Given the description of an element on the screen output the (x, y) to click on. 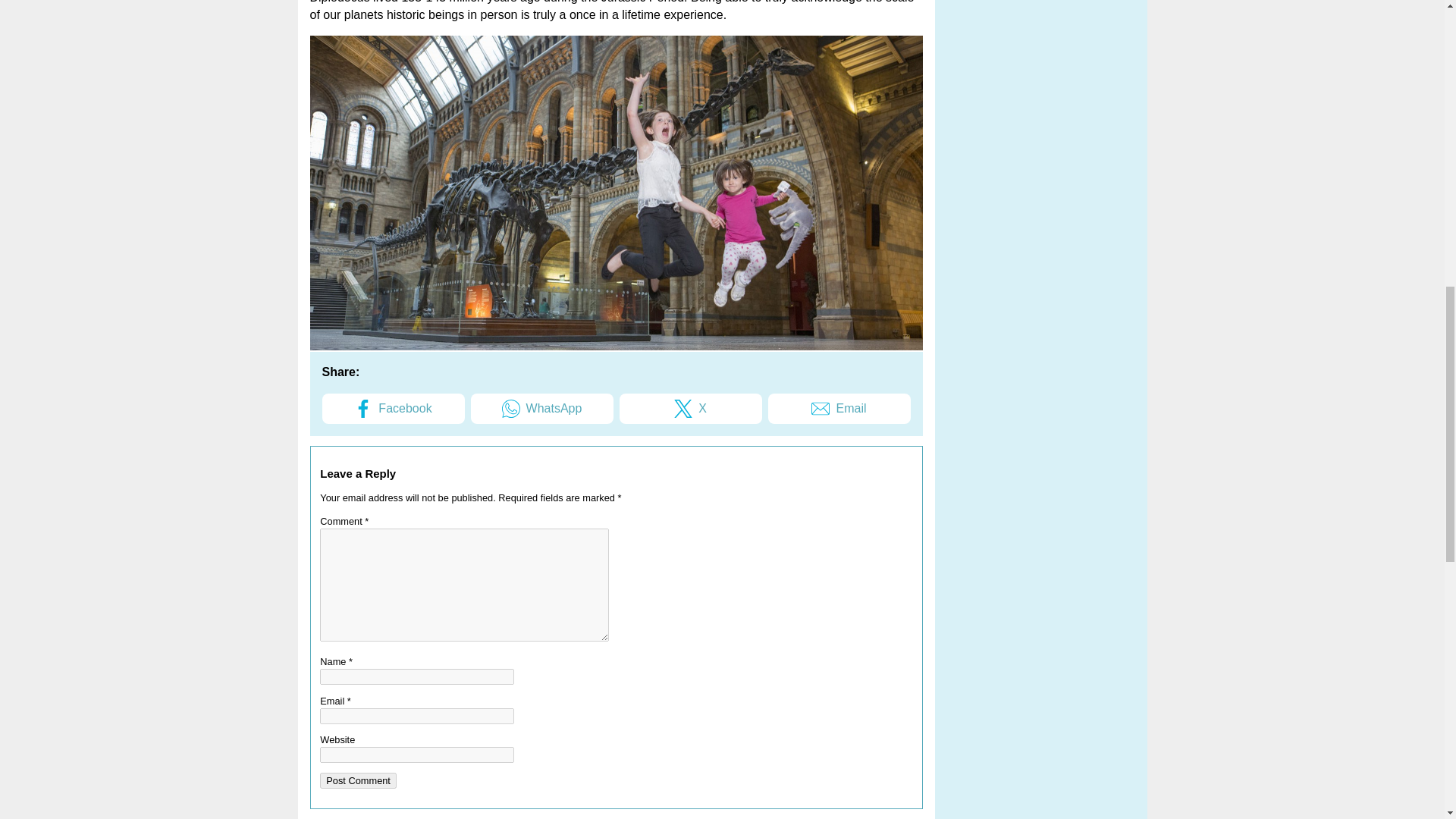
Post Comment (358, 780)
Tweet this! (689, 408)
Share on Facebook. (392, 408)
